Given the description of an element on the screen output the (x, y) to click on. 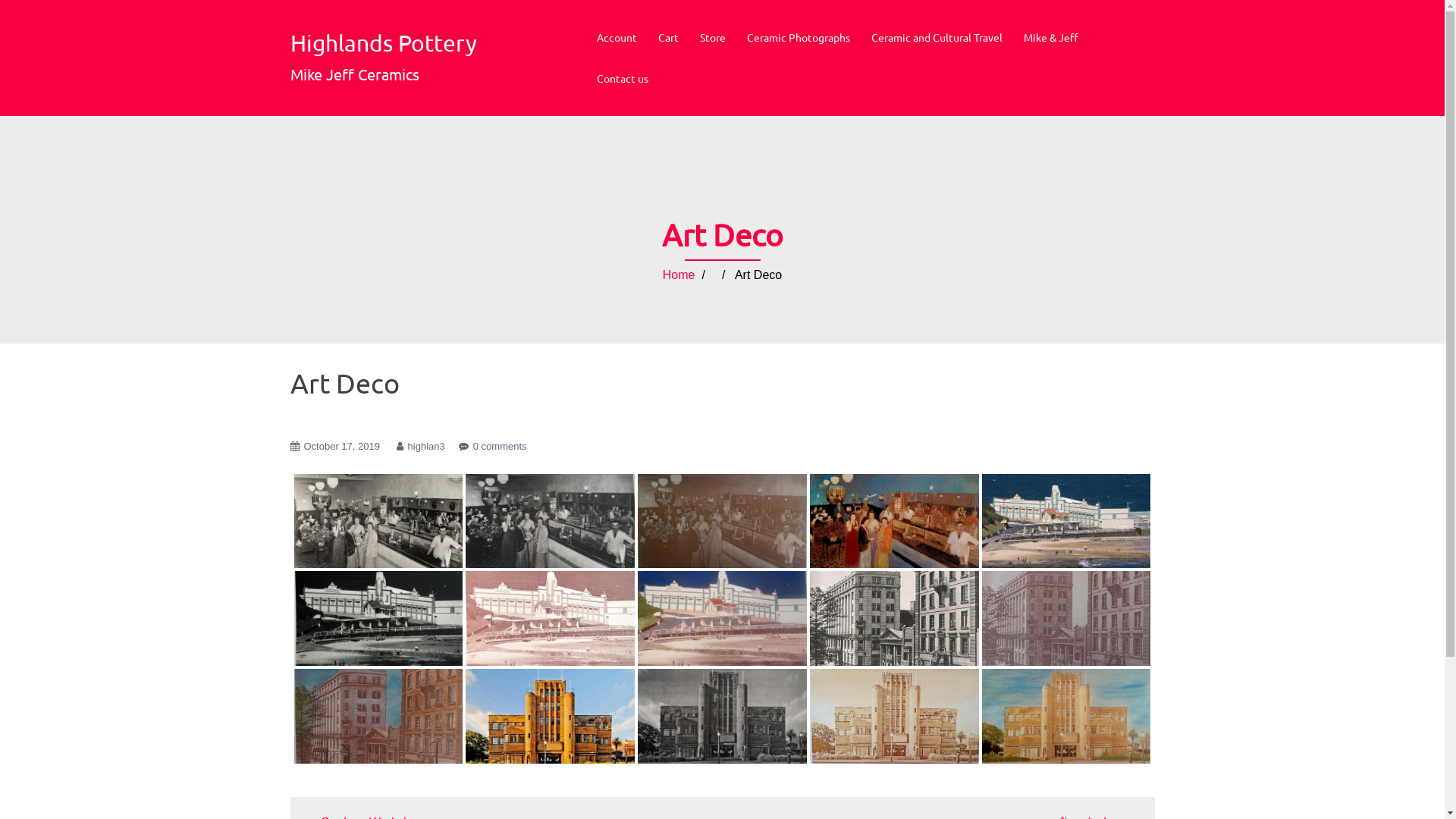
0 comments Element type: text (500, 445)
Victoria Cafe photograph Element type: hover (378, 521)
Ceramic and Cultural Travel Element type: text (935, 37)
NESCA House decal fired Element type: hover (894, 716)
Ocean Baths photo Element type: hover (1066, 520)
Ceramic Photographs Element type: text (797, 37)
Account Element type: text (616, 37)
Hunter Street decal fired Element type: hover (1066, 619)
Ocean Baths decal fired Element type: hover (549, 618)
highlan3 Element type: text (426, 445)
Home Element type: text (678, 274)
Contact us Element type: text (621, 78)
Highlands Pottery Element type: text (382, 42)
Mike & Jeff Element type: text (1050, 37)
Victoria Cafe decal fired Element type: hover (721, 520)
NESCA House photo Element type: hover (549, 716)
NESCA House unfired Element type: hover (721, 716)
Ocean Baths decal unfired Element type: hover (378, 618)
October 17, 2019 Element type: text (341, 445)
Store Element type: text (711, 37)
T  G Newcastle Element type: hover (894, 618)
Cart Element type: text (668, 37)
Victoria Cafe decal unfired Element type: hover (549, 520)
Newcastle Ocean Baths 400mm x 300mm Ceramic Photograph Element type: hover (721, 618)
NESCA House 400mm x 250mm Ceramic Photograph Element type: hover (1066, 716)
Victoria Cafe Newcastle 400mm x 250mm Ceramic Photograph Element type: hover (894, 521)
